Given the description of an element on the screen output the (x, y) to click on. 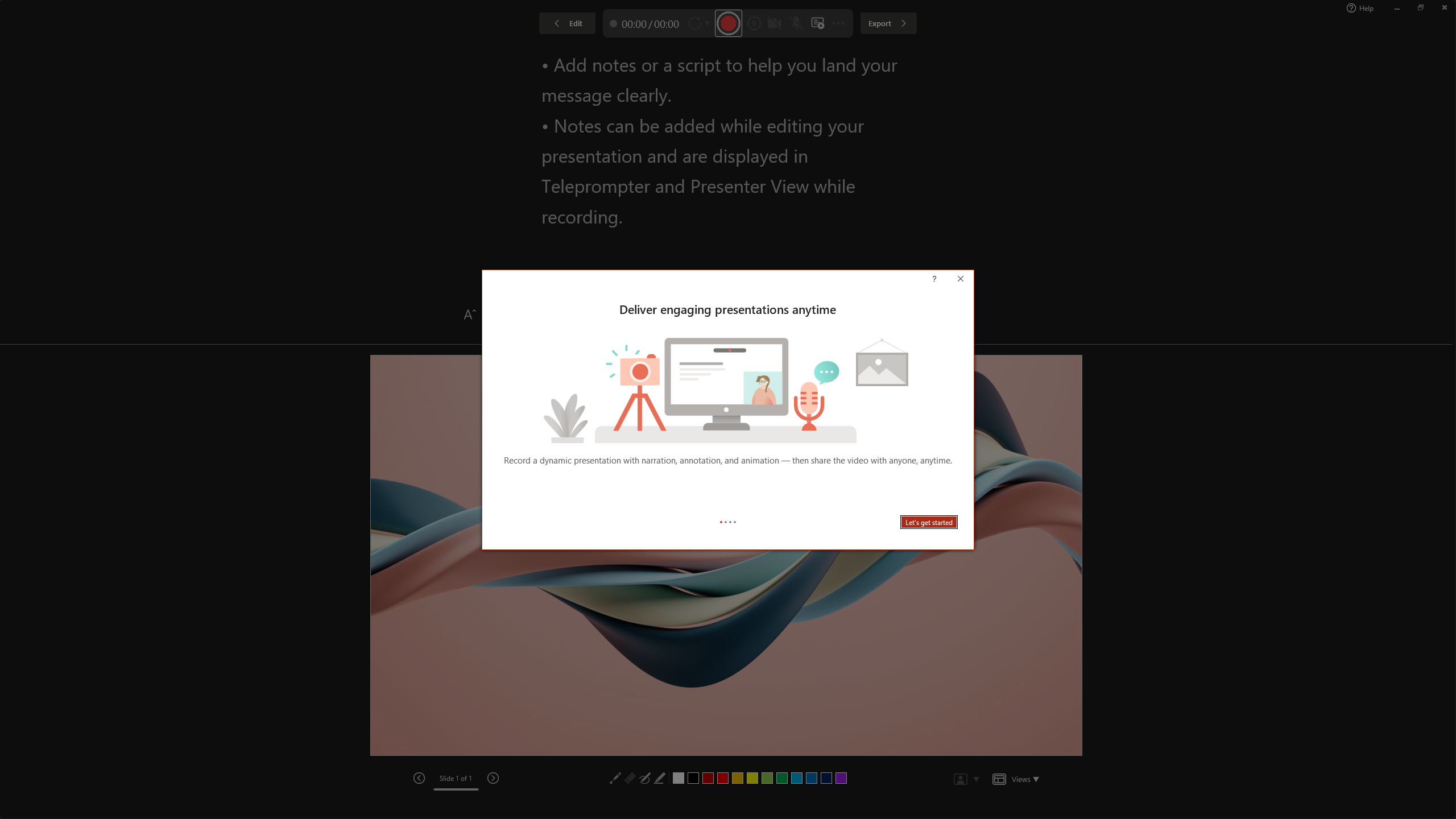
Banded (614, 56)
Let's get started (928, 522)
Slice (508, 56)
